Given the description of an element on the screen output the (x, y) to click on. 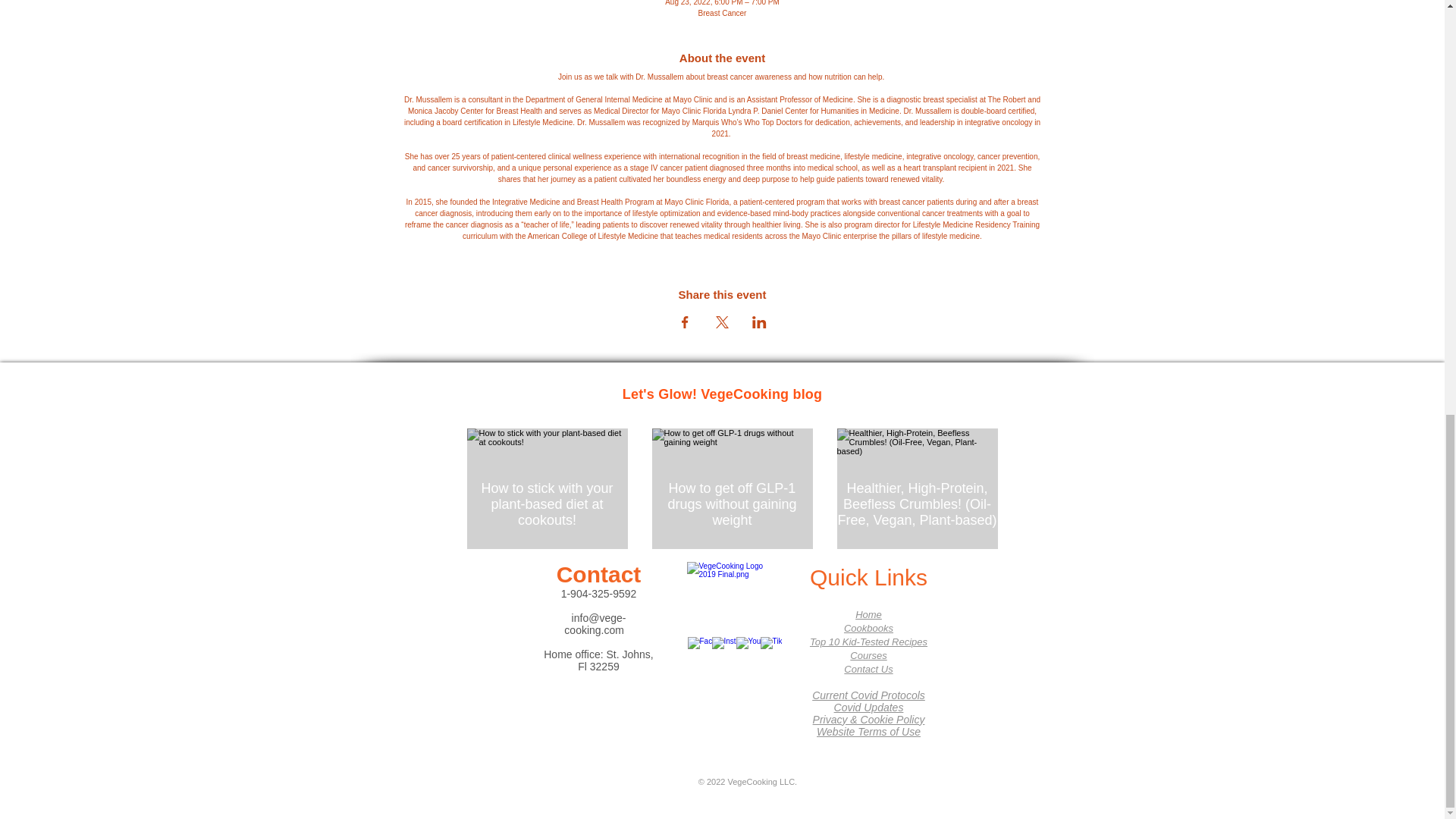
Covid Updates (869, 707)
Home (869, 614)
How to stick with your plant-based diet at cookouts! (547, 503)
Courses (868, 655)
Top 10 Kid-Tested Recipes (868, 641)
Current Covid Protocols (868, 701)
How to get off GLP-1 drugs without gaining weight (732, 503)
Contact Us (868, 668)
Cookbooks (868, 627)
